Given the description of an element on the screen output the (x, y) to click on. 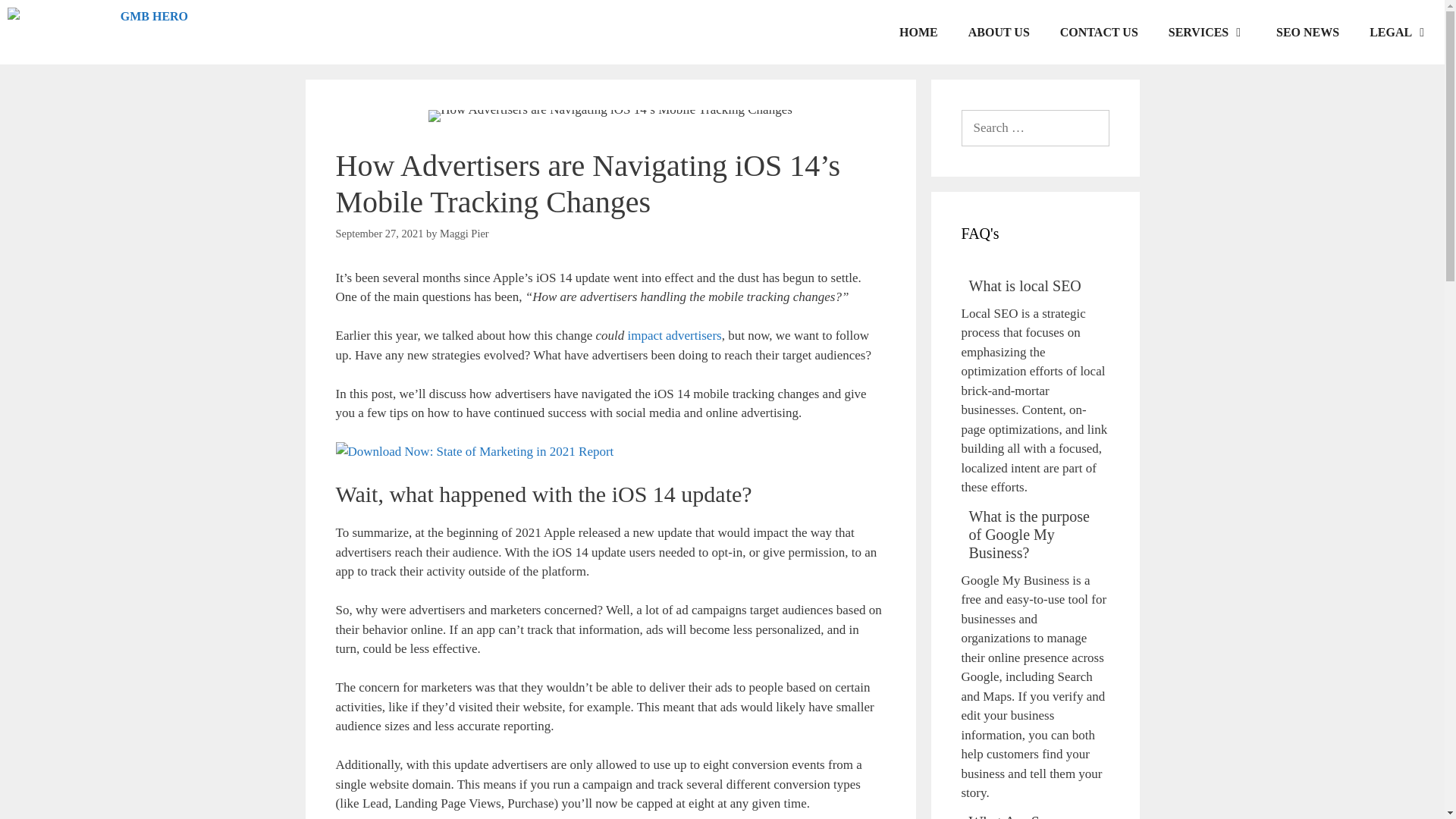
SEO NEWS (1307, 32)
View all posts by Maggi Pier (464, 233)
HOME (918, 32)
Search (33, 18)
Maggi Pier (464, 233)
Search for: (1034, 127)
GMB Hero (97, 32)
ABOUT US (999, 32)
CONTACT US (1099, 32)
SERVICES (1206, 32)
GMB Hero (101, 32)
impact advertisers (672, 335)
